Given the description of an element on the screen output the (x, y) to click on. 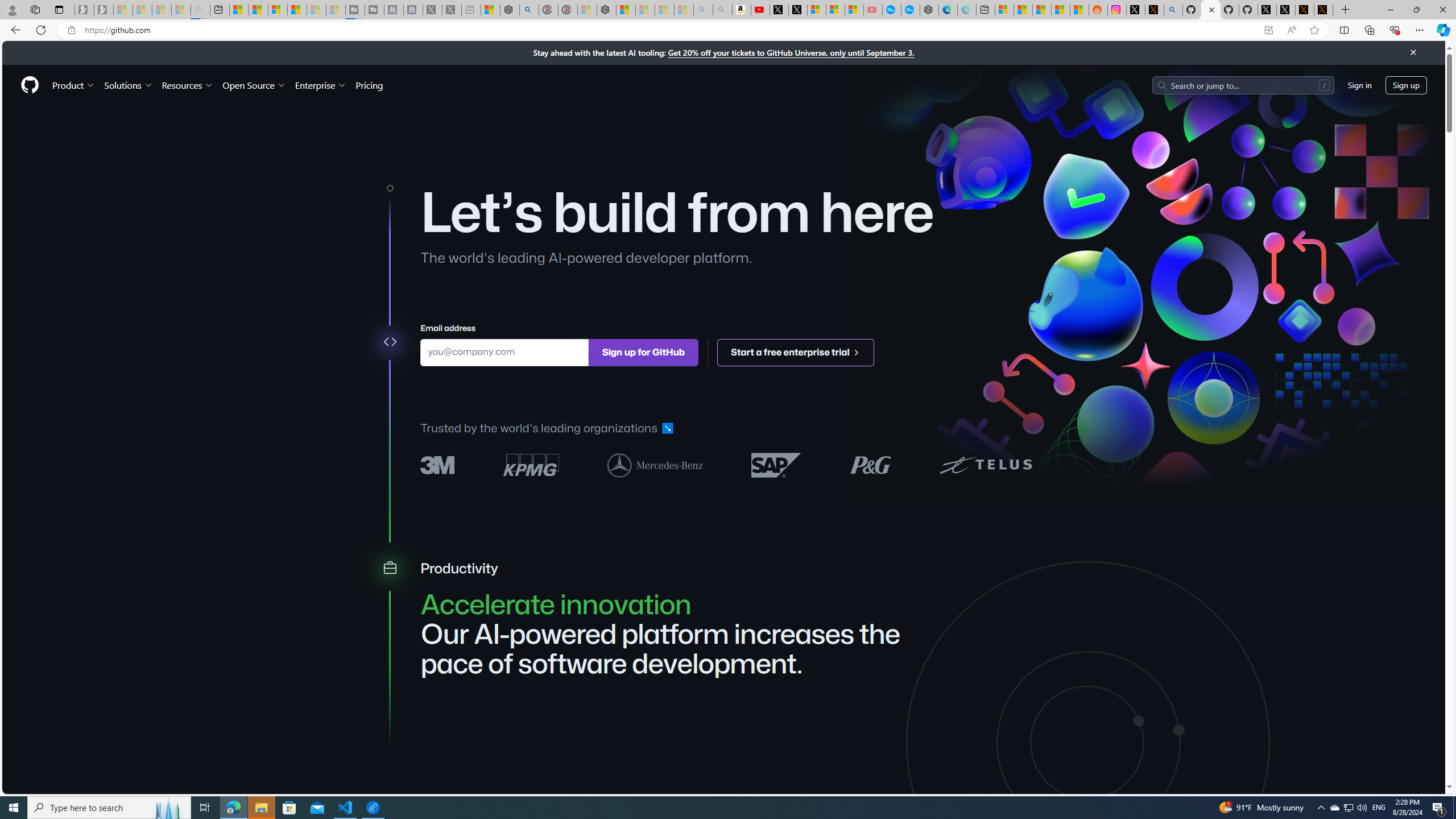
github - Search (1173, 9)
Open Source (254, 84)
Shanghai, China hourly forecast | Microsoft Weather (1041, 9)
Pricing (368, 84)
Start a free enterprise trial  (796, 352)
Solutions (128, 84)
